Given the description of an element on the screen output the (x, y) to click on. 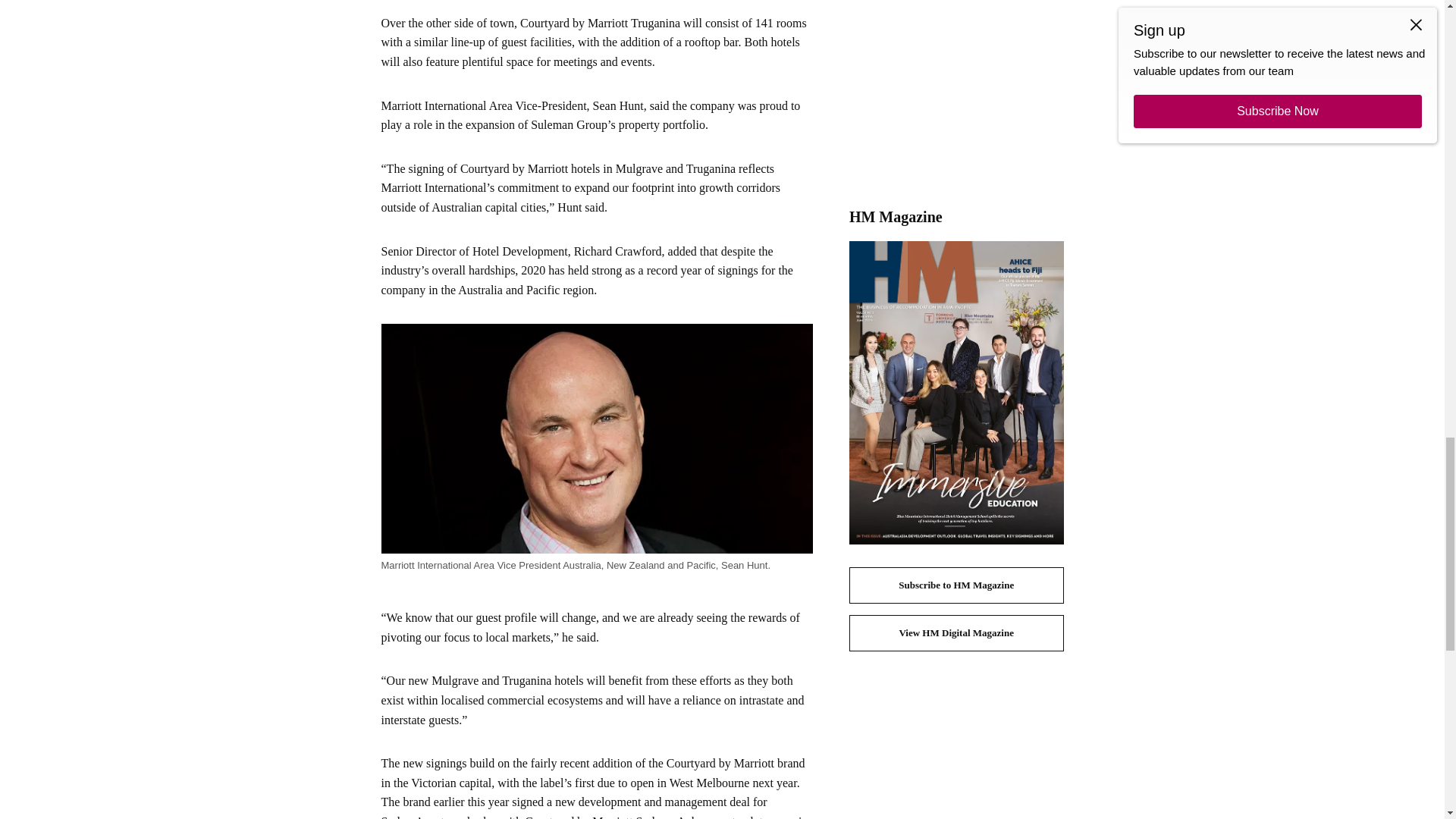
3rd party ad content (956, 92)
